Given the description of an element on the screen output the (x, y) to click on. 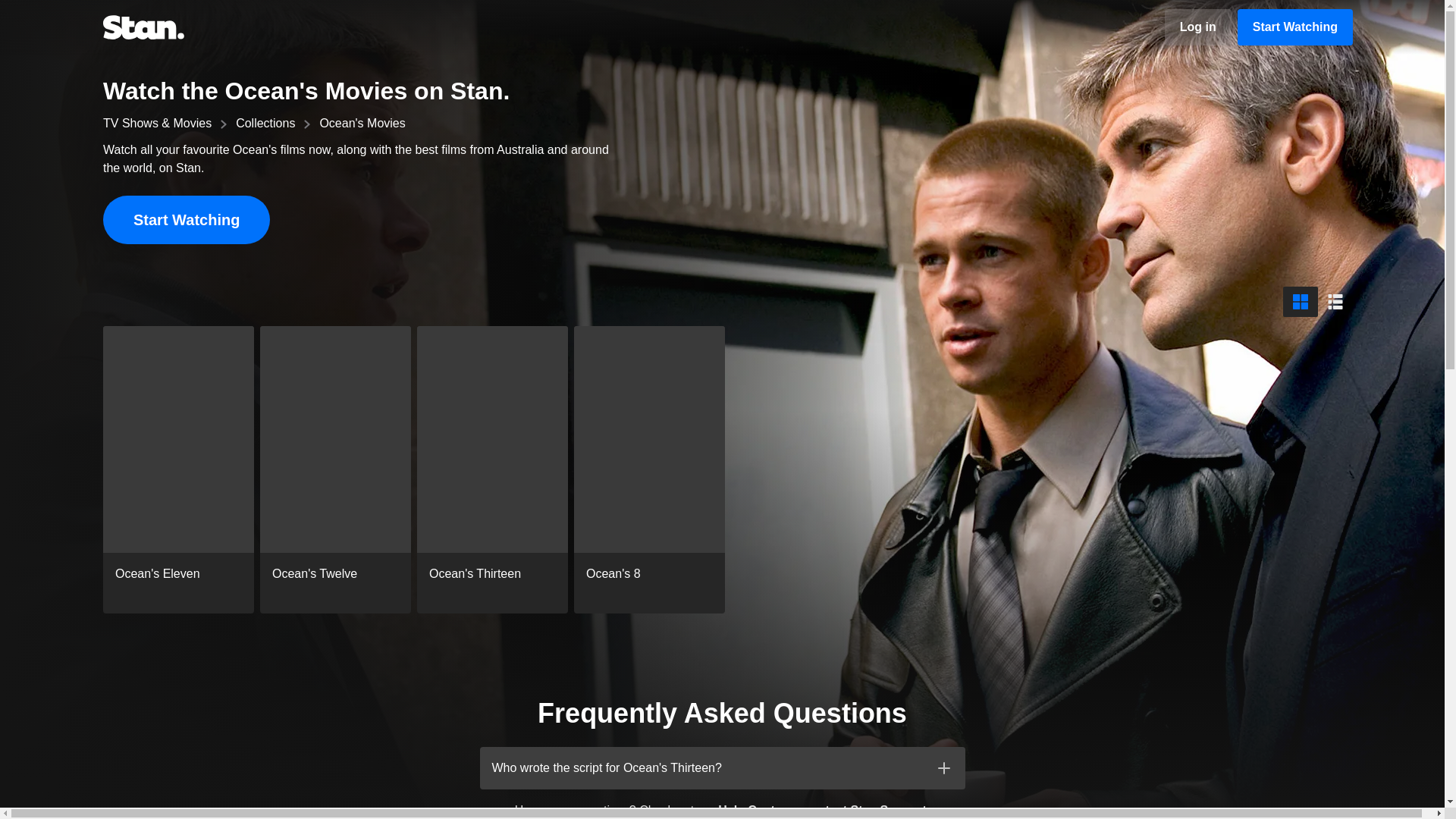
Stan. (143, 27)
Grid View (1299, 301)
Ocean's Movies (361, 123)
Start Watching (186, 219)
Log in (1197, 27)
Start Watching (1294, 27)
Stan. (143, 27)
Collections (265, 123)
List View (1334, 301)
